Given the description of an element on the screen output the (x, y) to click on. 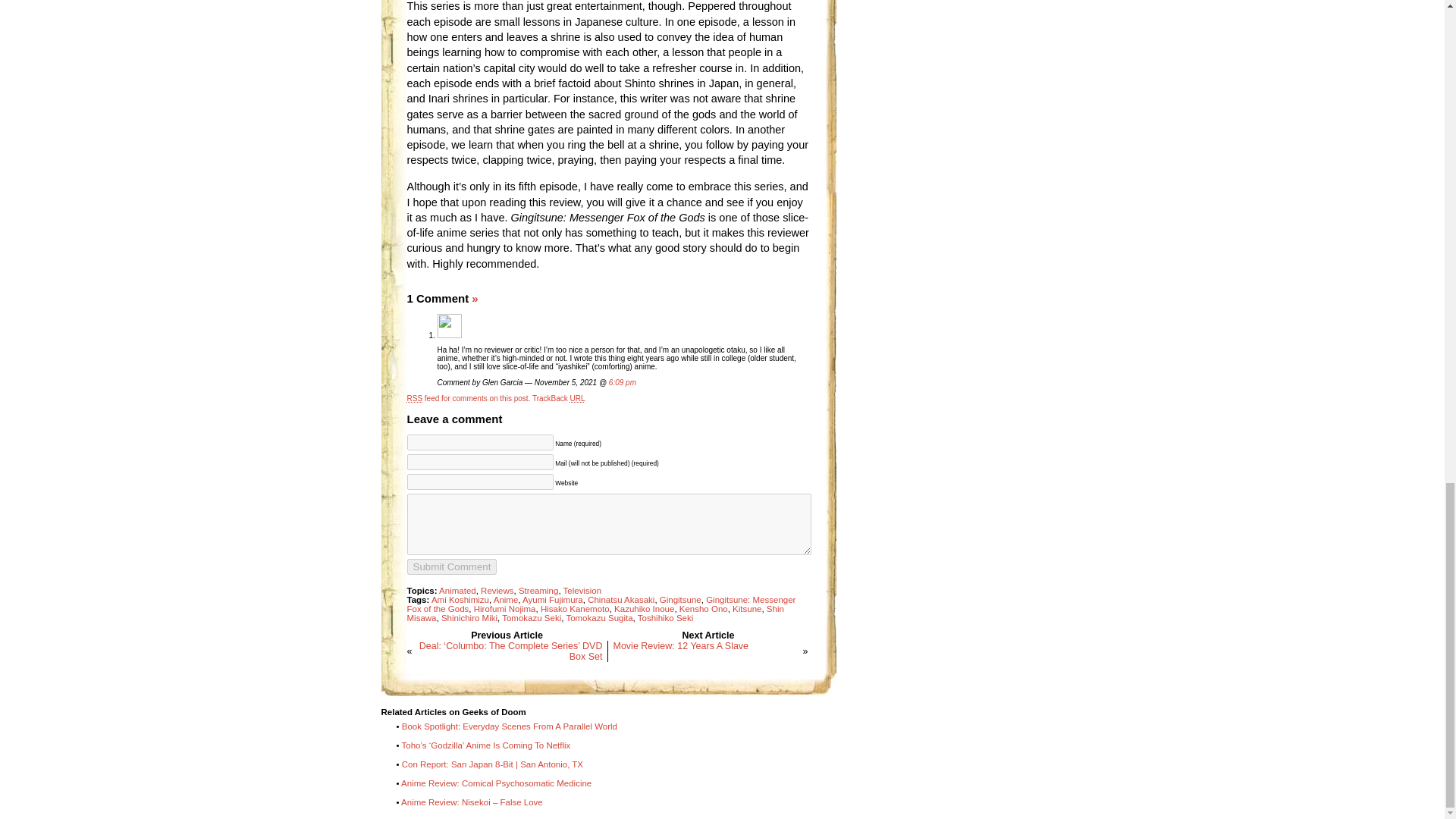
Streaming (537, 590)
Animated (457, 590)
Gingitsune (680, 599)
Shinichiro Miki (469, 617)
Kitsune (746, 608)
Hirofumi Nojima (504, 608)
Tomokazu Sugita (598, 617)
Toshihiko Seki (665, 617)
RSS feed for comments on this post. (467, 397)
Universal Resource Locator (577, 397)
